Given the description of an element on the screen output the (x, y) to click on. 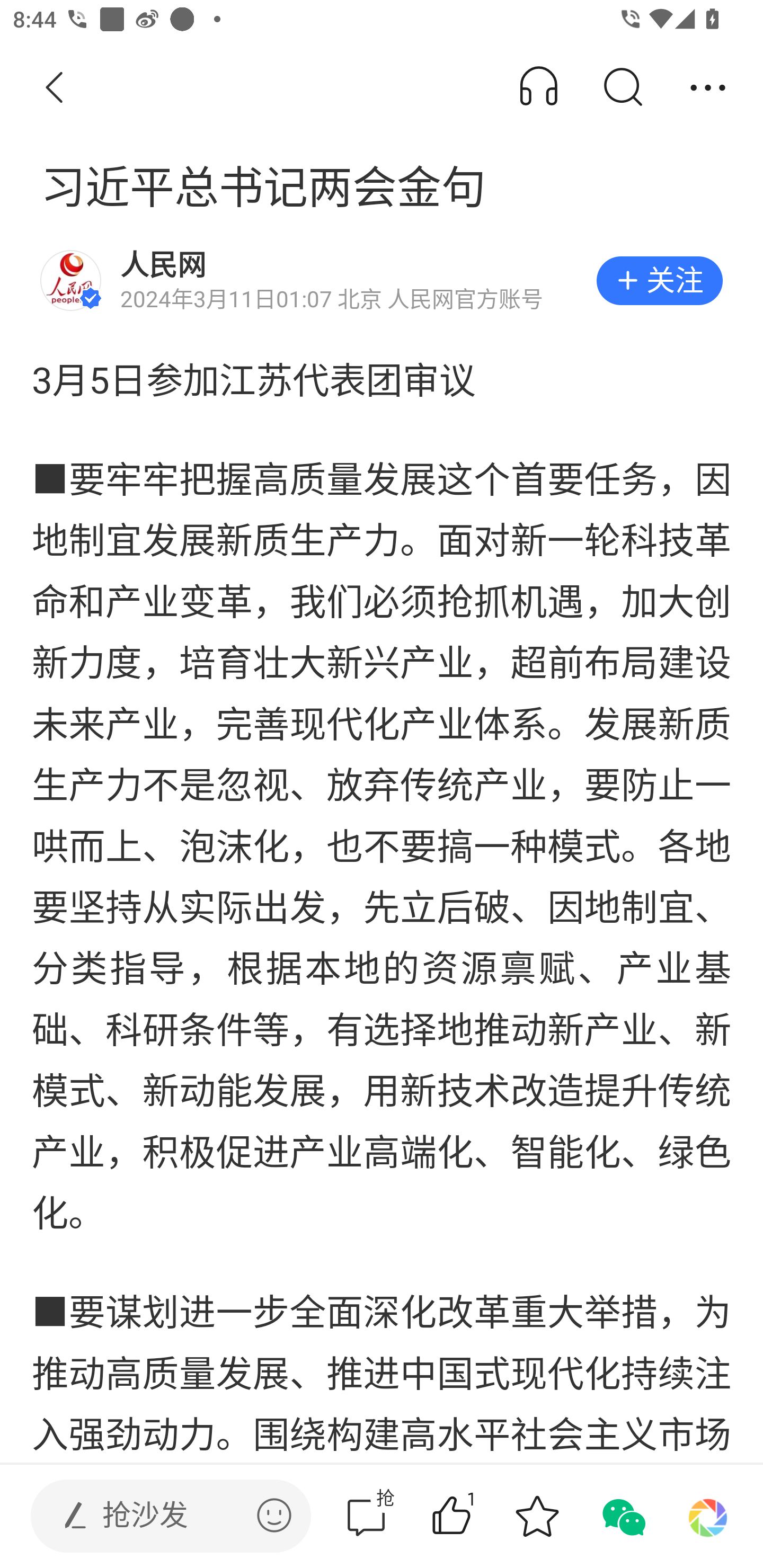
搜索  (622, 87)
分享  (707, 87)
 返回 (54, 87)
人民网 2024年3月11日01:07 北京 人民网官方账号  关注 (381, 280)
 关注 (659, 281)
发表评论  抢沙发 发表评论  (155, 1516)
抢评论  抢 评论 (365, 1516)
1赞 (476, 1516)
收藏  (536, 1516)
分享到微信  (622, 1516)
分享到朋友圈 (707, 1516)
 (274, 1515)
